Given the description of an element on the screen output the (x, y) to click on. 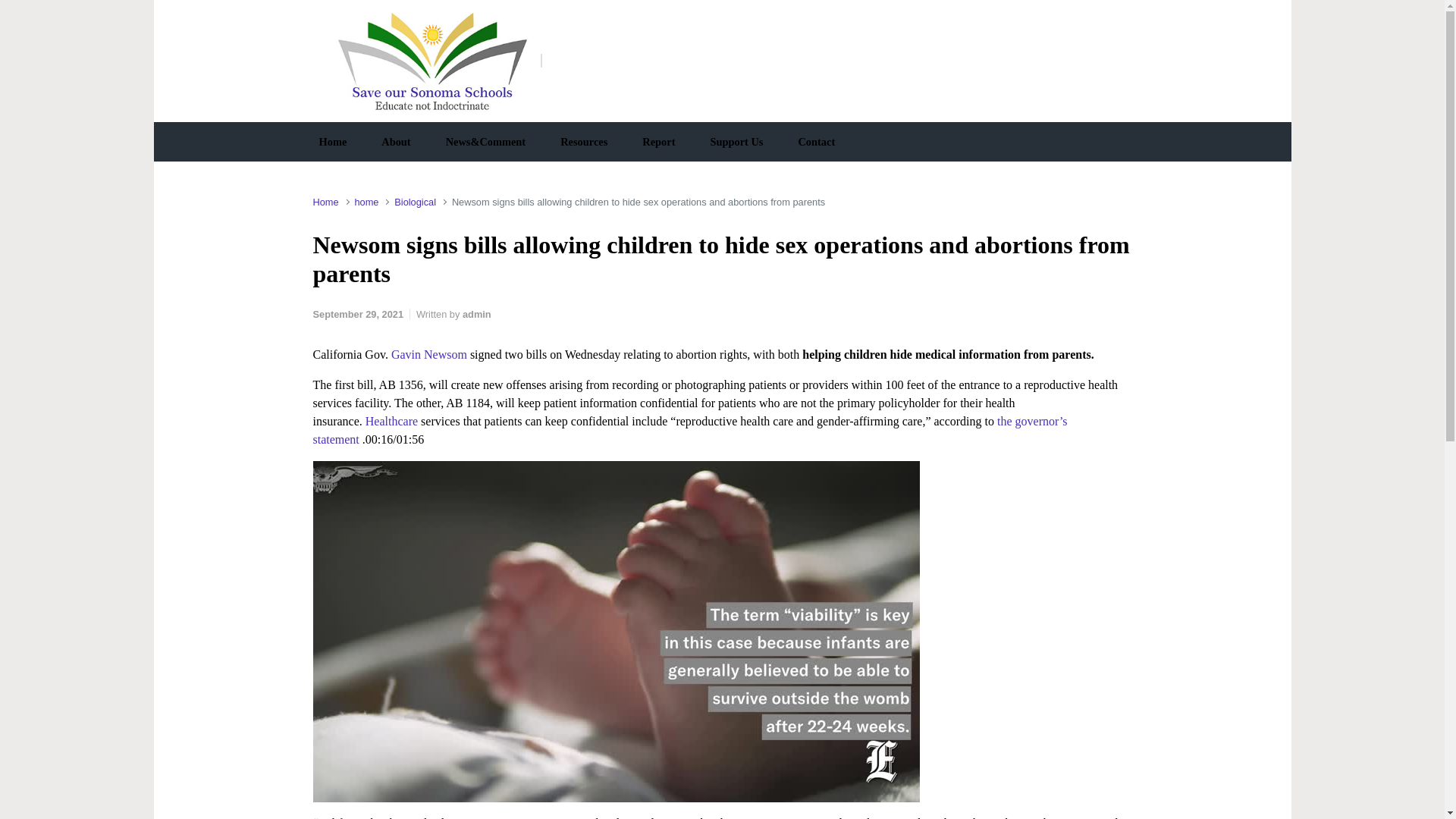
Contact (816, 141)
admin (477, 314)
View all posts by admin (477, 314)
Biological (414, 202)
Report (658, 141)
Support Us (735, 141)
Biological (414, 202)
home (365, 202)
home (365, 202)
About (395, 141)
Gavin Newsom (429, 354)
Home (332, 141)
Resources (583, 141)
Healthcare  (392, 420)
Home (325, 202)
